Given the description of an element on the screen output the (x, y) to click on. 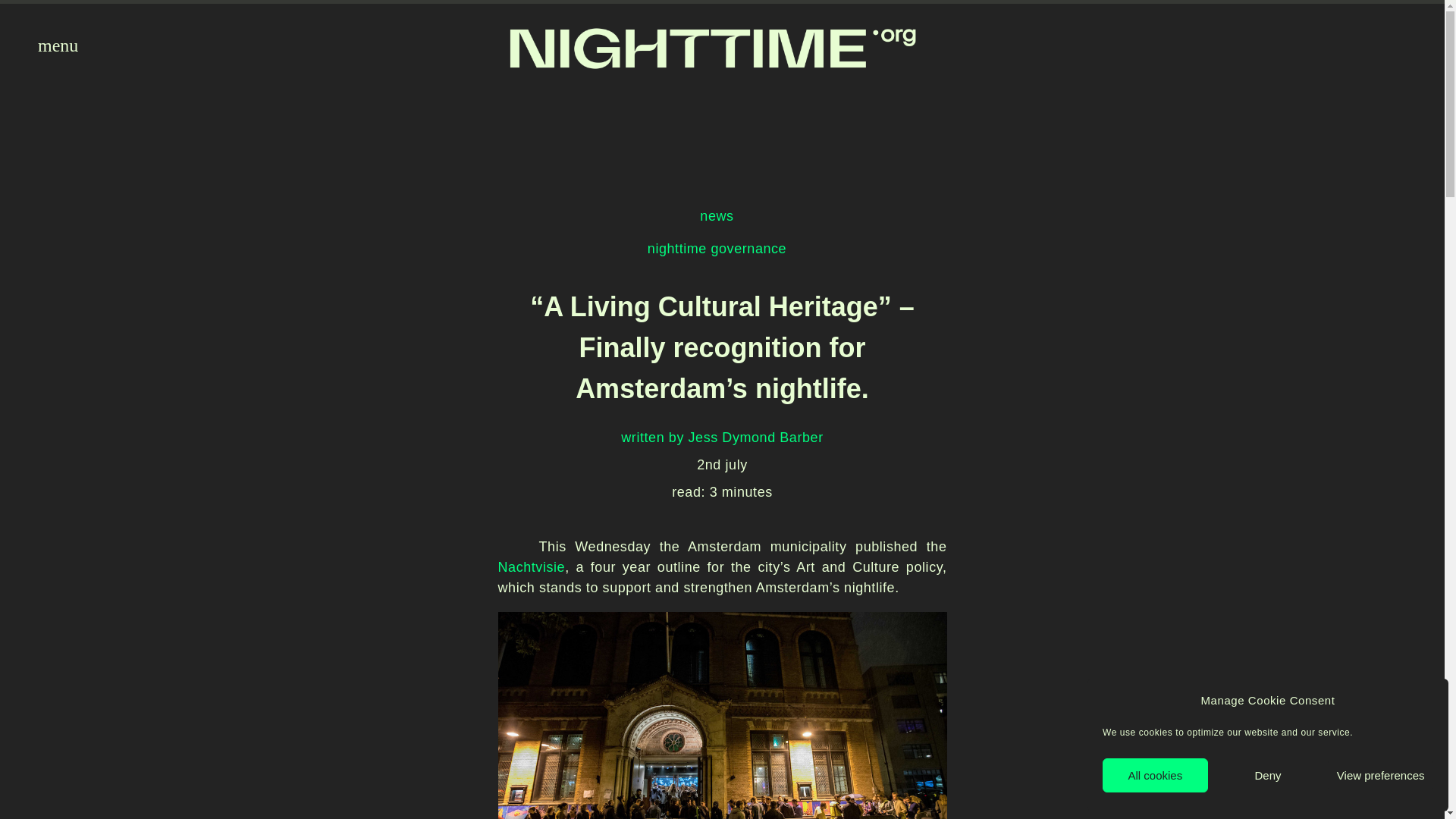
menu (47, 45)
news (716, 215)
View preferences (1379, 775)
All cookies (1155, 775)
nighttime governance (716, 248)
Deny (1267, 775)
